Given the description of an element on the screen output the (x, y) to click on. 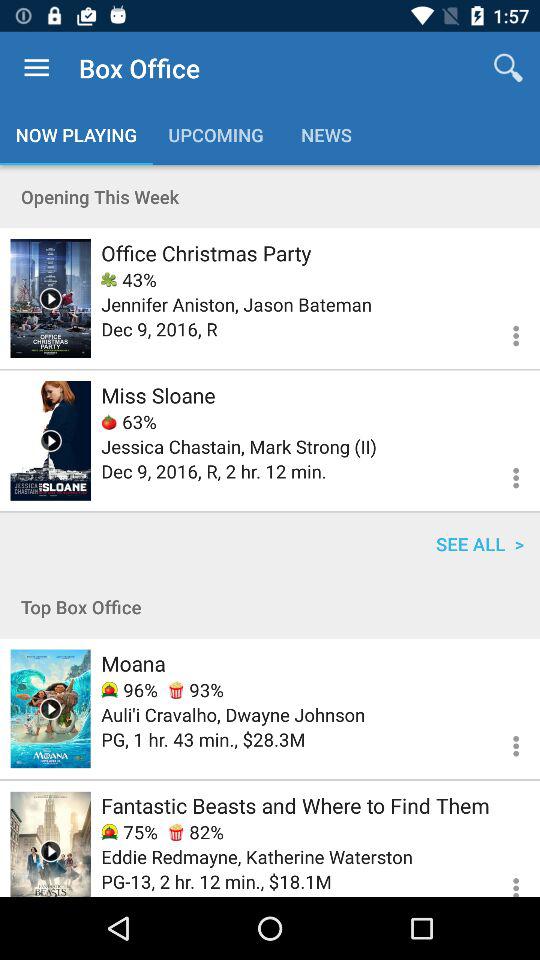
flip to fantastic beasts and item (295, 805)
